Given the description of an element on the screen output the (x, y) to click on. 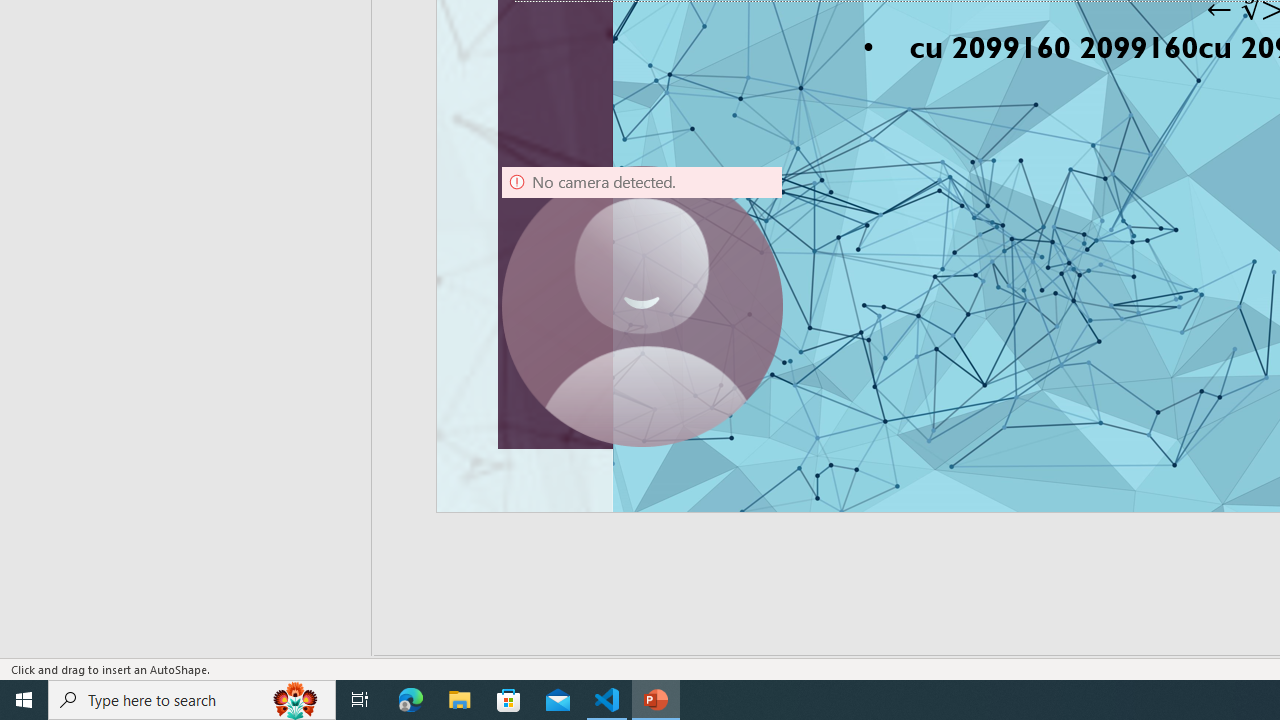
remote (122, 628)
